Given the description of an element on the screen output the (x, y) to click on. 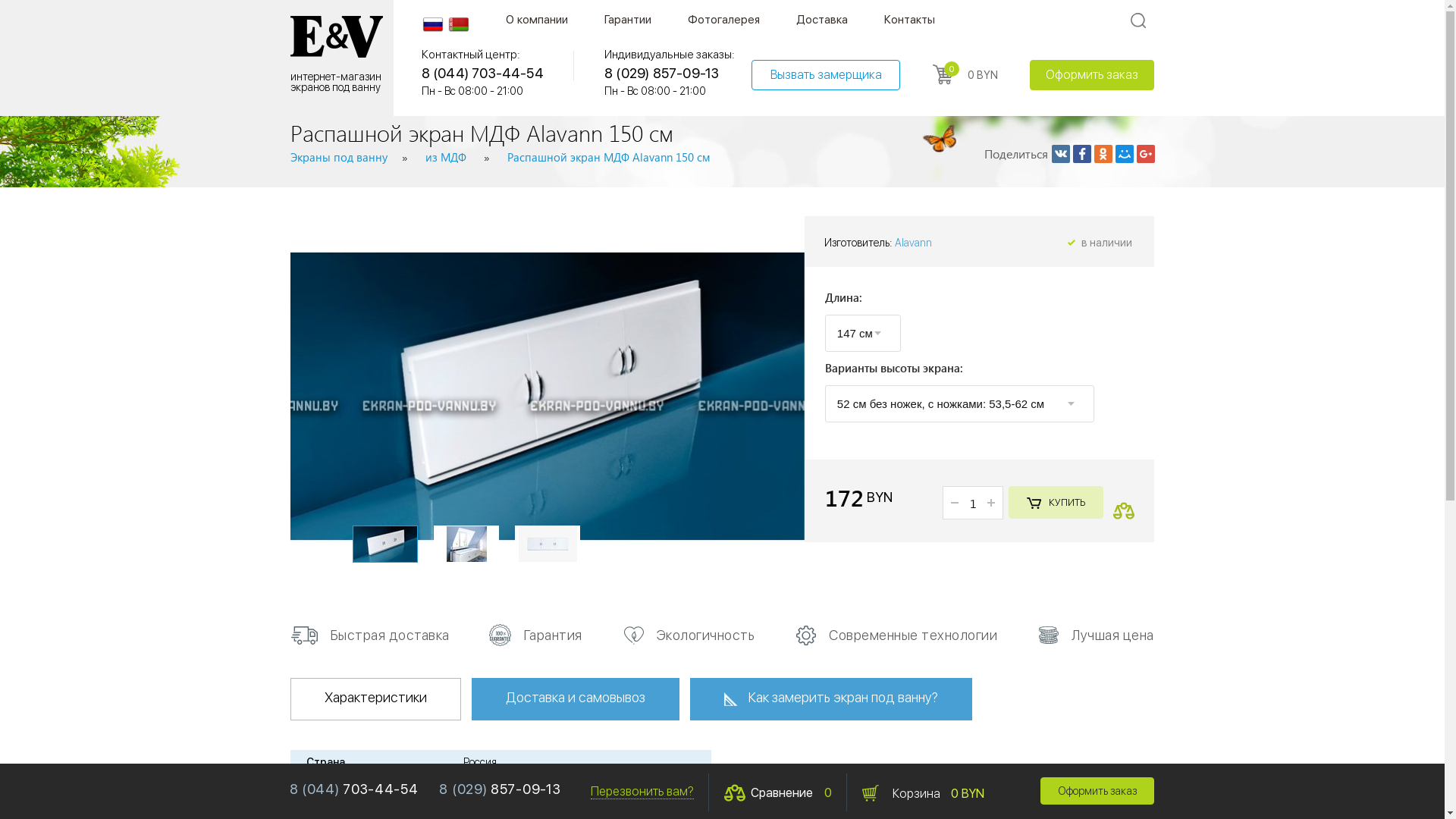
Google+ Element type: hover (1144, 153)
8 (029) 857-09-13 Element type: text (499, 789)
0 Element type: text (942, 73)
Facebook Element type: hover (1081, 153)
8 (044) 703-44-54 Element type: text (353, 789)
Alavann Element type: text (912, 242)
